Given the description of an element on the screen output the (x, y) to click on. 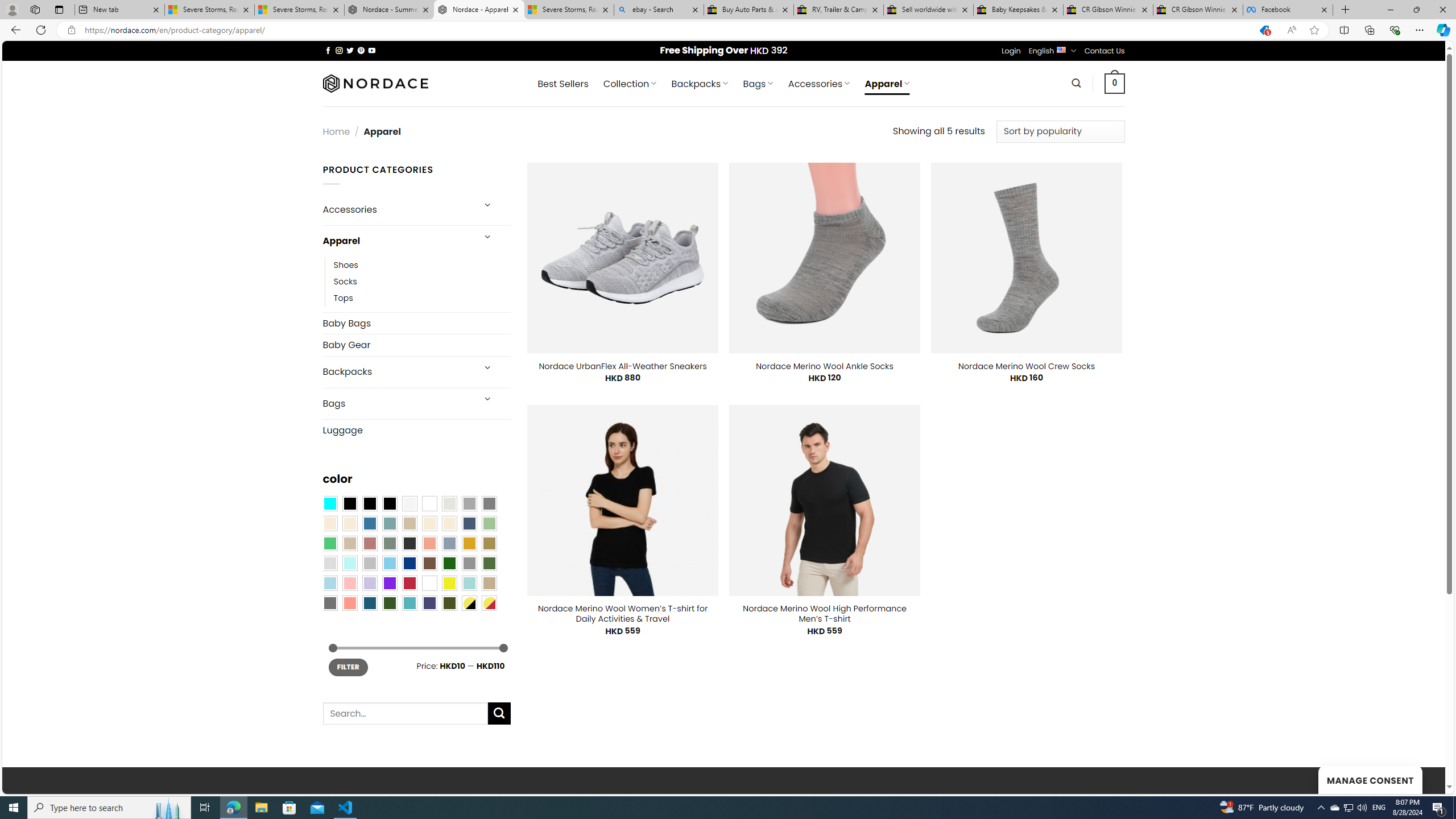
Facebook (1287, 9)
Navy Blue (408, 562)
Follow on Facebook (327, 49)
Dull Nickle (329, 602)
Green (488, 562)
Submit (499, 712)
All Black (349, 503)
Follow on YouTube (371, 49)
This site has coupons! Shopping in Microsoft Edge, 5 (1263, 29)
Yellow-Red (488, 602)
